Given the description of an element on the screen output the (x, y) to click on. 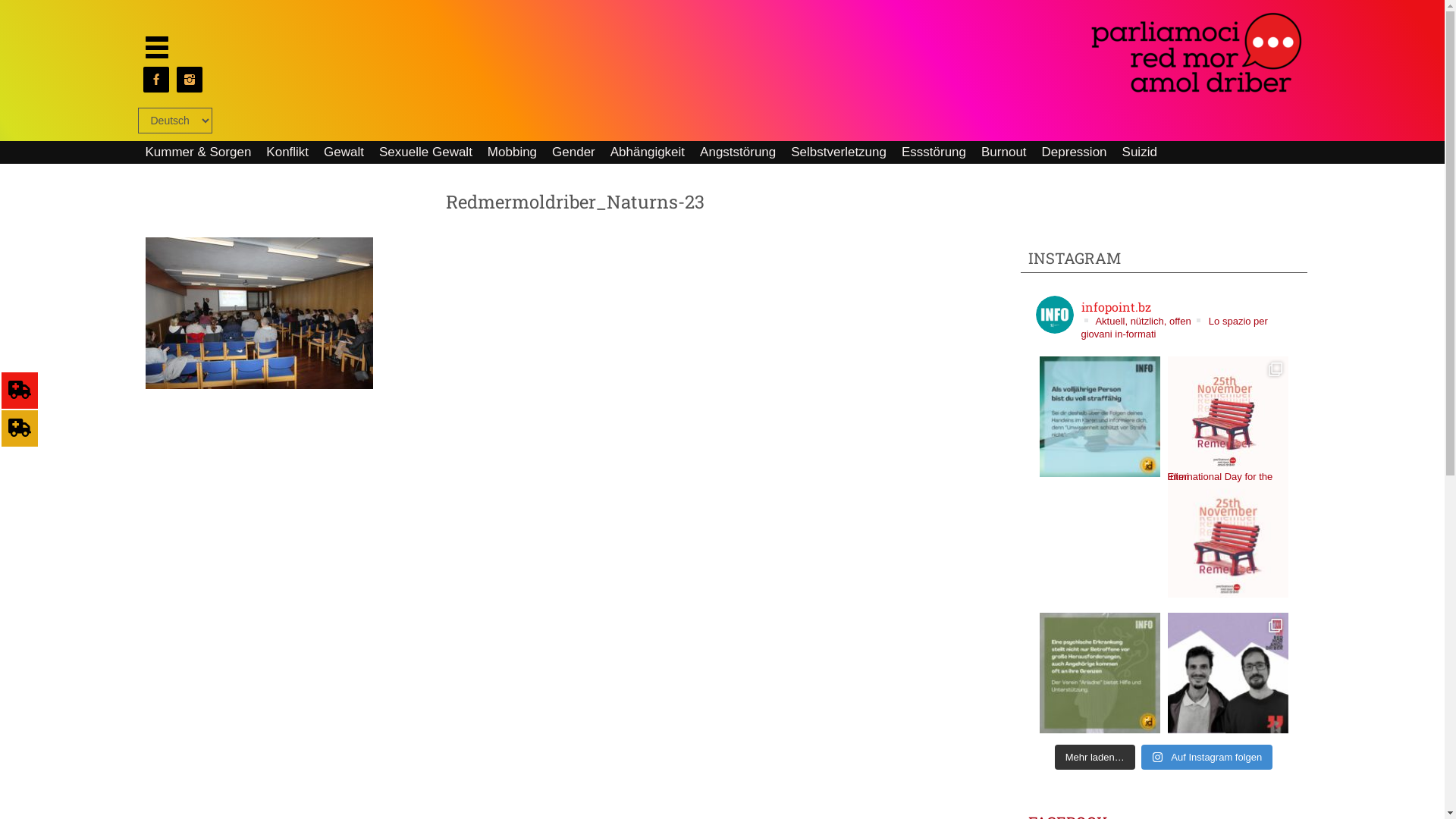
Kummer & Sorgen Element type: text (198, 152)
Selbstverletzung Element type: text (838, 152)
Burnout Element type: text (1003, 152)
Auf Instagram folgen Element type: text (1206, 757)
Konflikt Element type: text (287, 152)
International Day for the Elimi Element type: text (1227, 536)
Gender Element type: text (573, 152)
Suizid Element type: text (1139, 152)
facebook Element type: hover (155, 79)
Gewalt Element type: text (343, 152)
Mobbing Element type: text (512, 152)
Sexuelle Gewalt Element type: text (425, 152)
Depression Element type: text (1074, 152)
insta Element type: hover (189, 79)
